Given the description of an element on the screen output the (x, y) to click on. 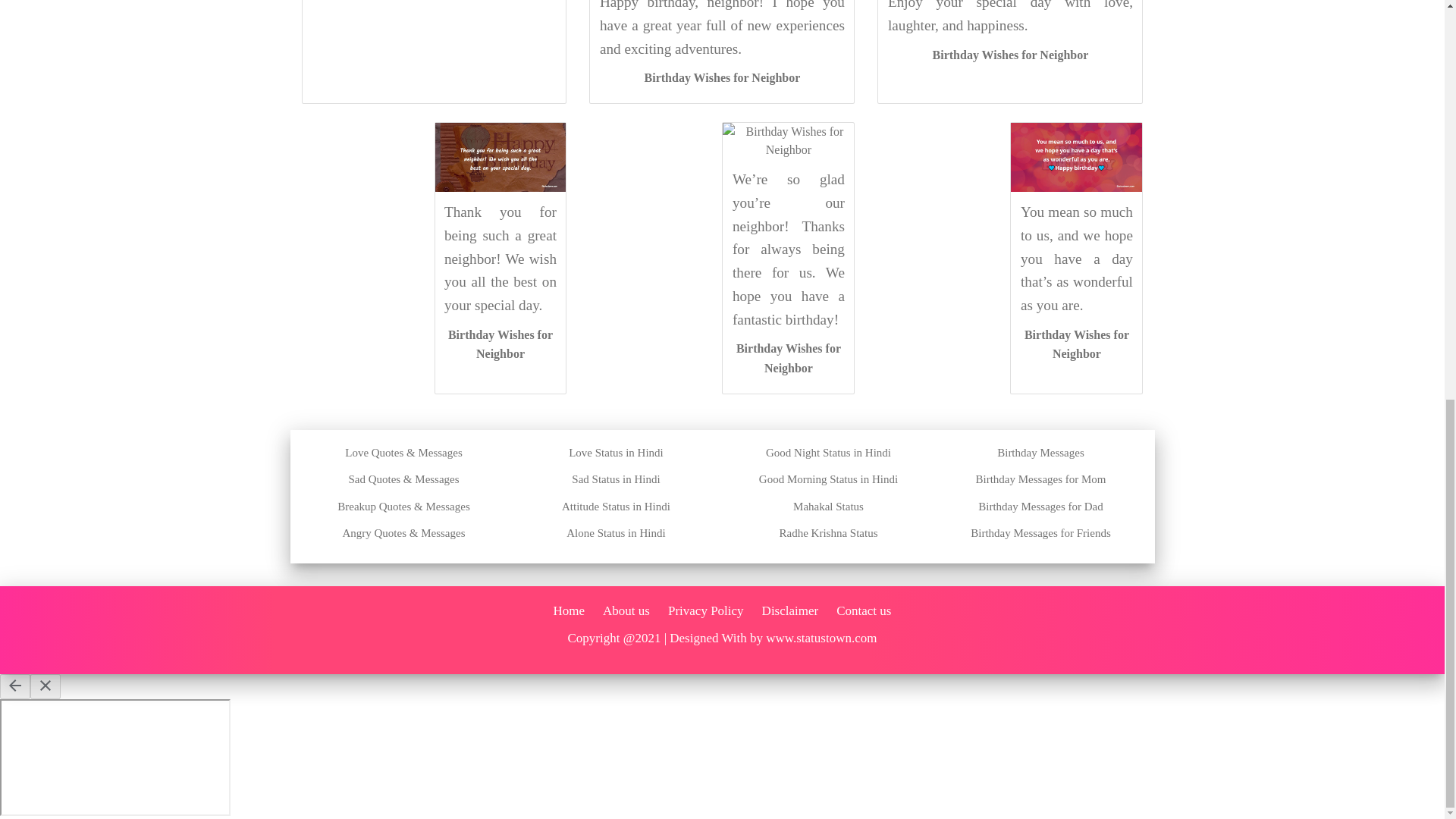
Birthday Wishes for Neighbor quotes (500, 344)
Birthday Wishes for Neighbor (1011, 53)
Birthday Wishes for Neighbor (1077, 344)
Love Status in Hindi (616, 452)
Enjoy your special day with love, laughter, and happiness. (1010, 16)
Birthday Wishes for Neighbor quotes (1011, 53)
Birthday Wishes for Neighbor quotes (722, 77)
Birthday Wishes for Neighbor (722, 77)
Birthday Wishes for Neighbor (500, 344)
Enjoy your special day with love, laughter, and happiness. (1010, 16)
